Given the description of an element on the screen output the (x, y) to click on. 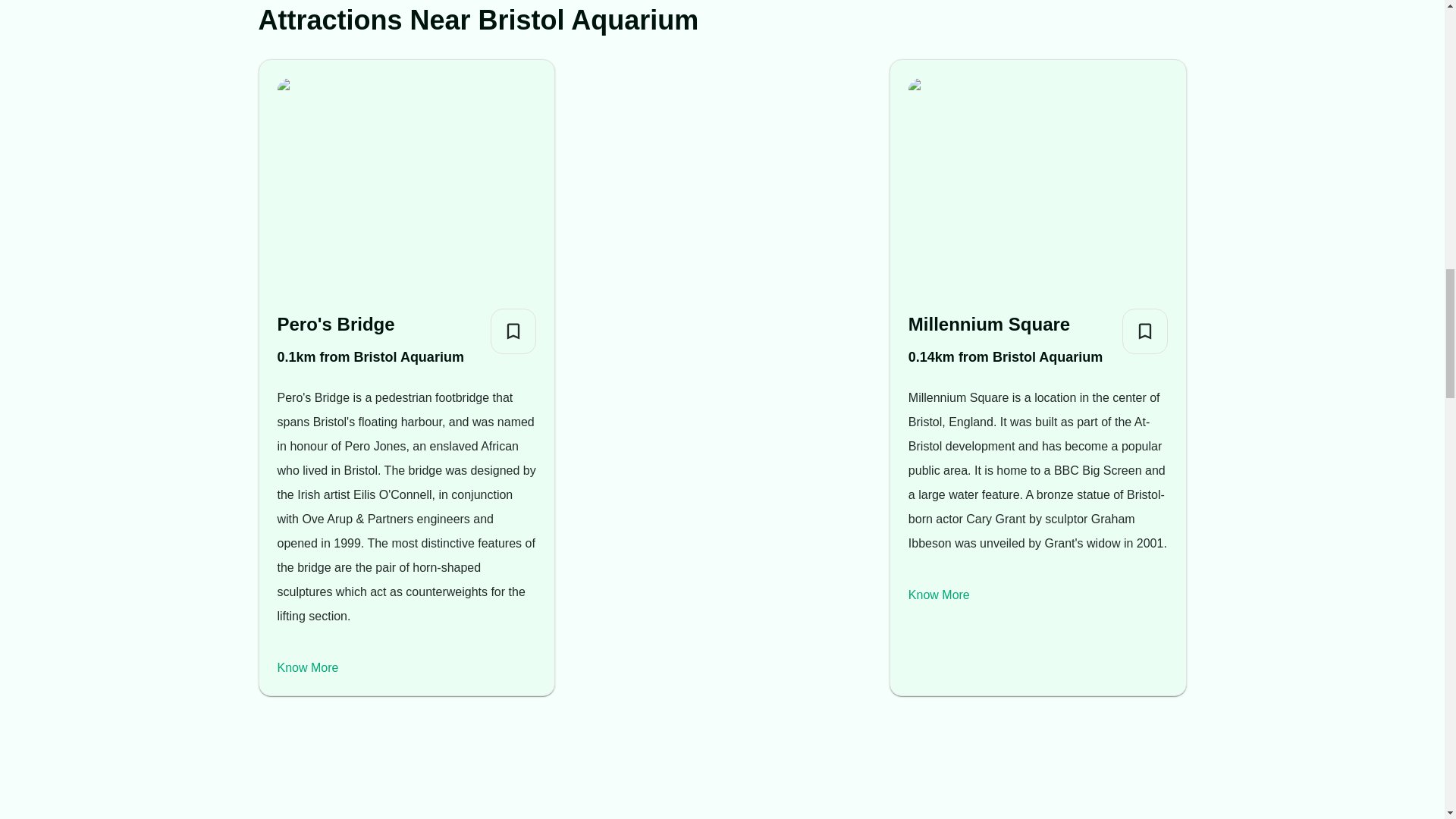
Know More (938, 594)
Pero's Bridge (371, 324)
Add to Bucket List (512, 330)
Millennium Square (1005, 324)
Add to Bucket List (1144, 330)
Know More (308, 667)
